Given the description of an element on the screen output the (x, y) to click on. 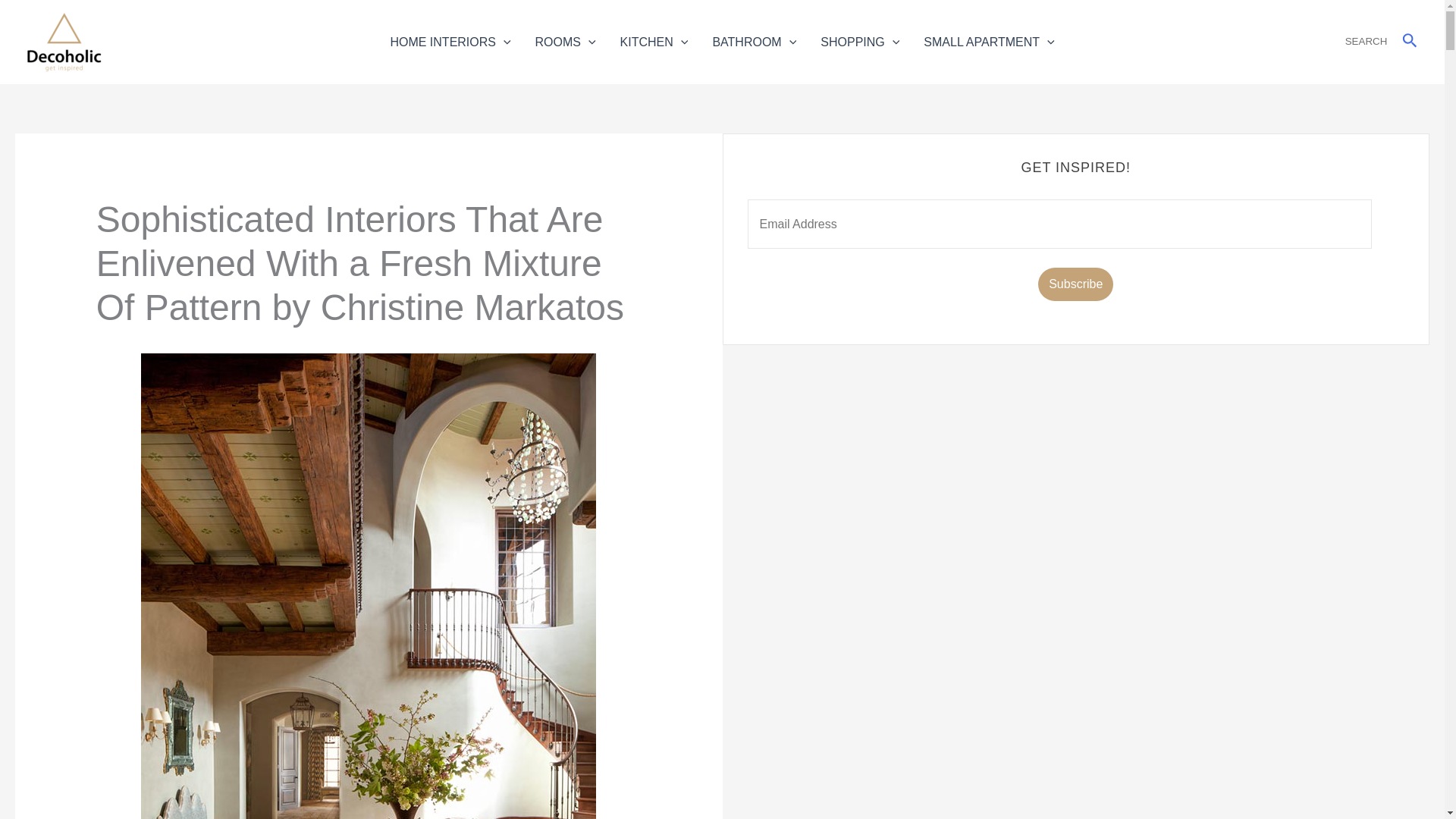
SHOPPING (859, 41)
BATHROOM (754, 41)
HOME INTERIORS (449, 41)
SMALL APARTMENT (988, 41)
ROOMS (565, 41)
KITCHEN (654, 41)
